Given the description of an element on the screen output the (x, y) to click on. 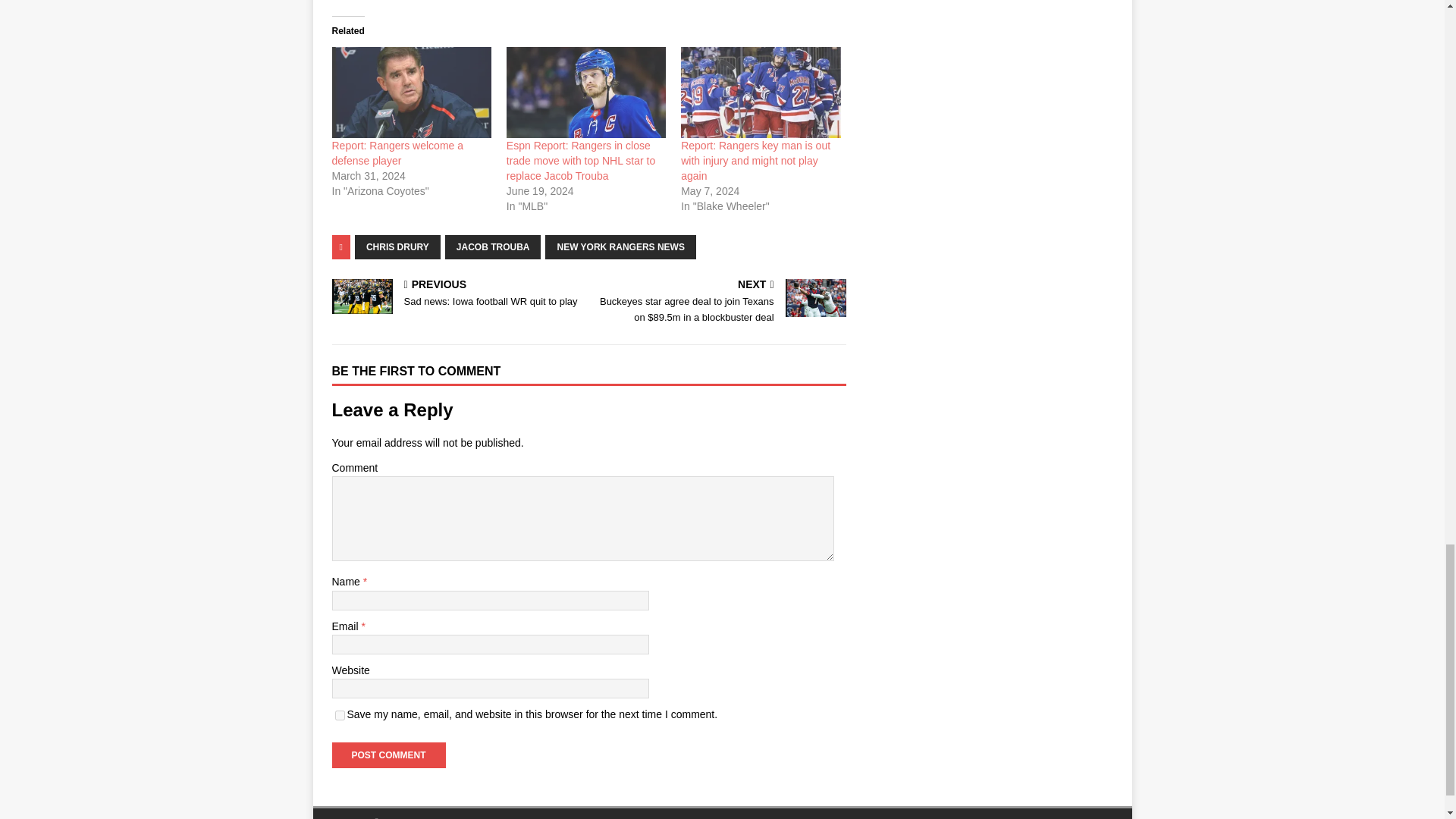
Post Comment (388, 755)
Report: Rangers welcome a defense player (397, 153)
NEW YORK RANGERS NEWS (619, 247)
Report: Rangers welcome a defense player (397, 153)
JACOB TROUBA (457, 294)
yes (493, 247)
Post Comment (339, 715)
CHRIS DRURY (388, 755)
